Given the description of an element on the screen output the (x, y) to click on. 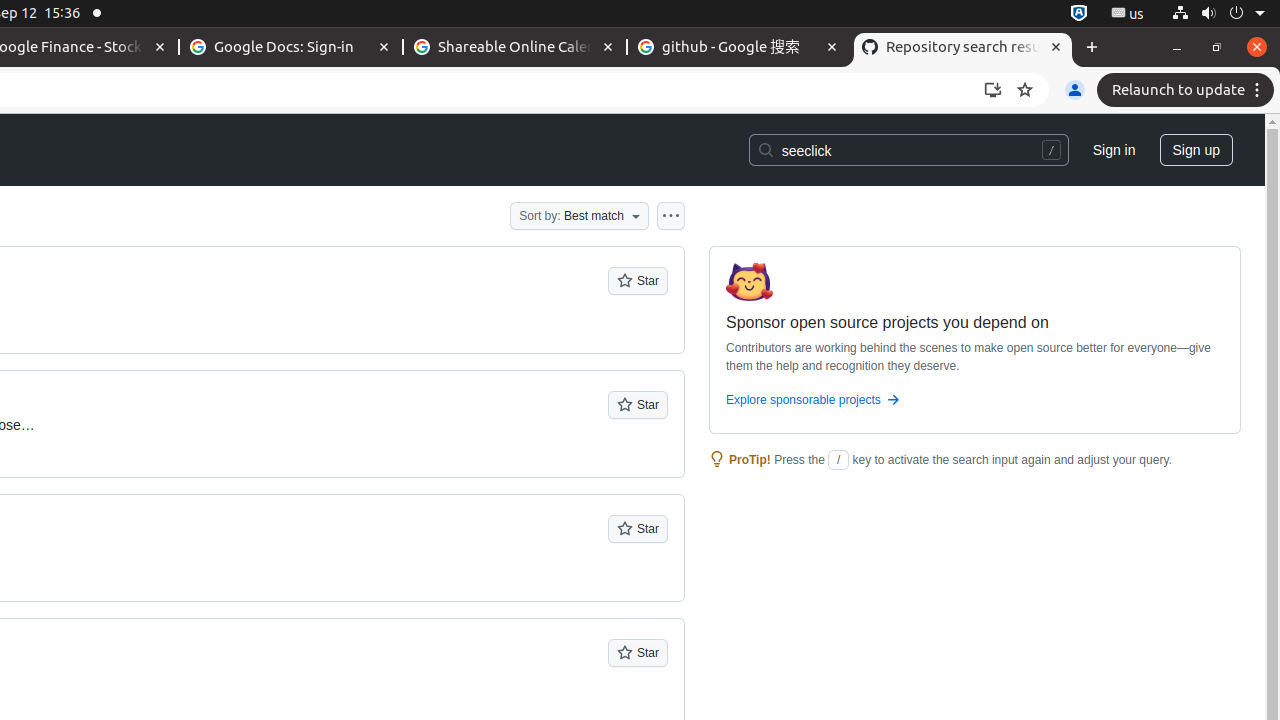
Bookmark this tab Element type: push-button (1025, 90)
System Element type: menu (1218, 13)
Sign up Element type: link (1196, 150)
Sort by: Best match Element type: push-button (579, 215)
Explore sponsorable projects Element type: link (975, 403)
